Given the description of an element on the screen output the (x, y) to click on. 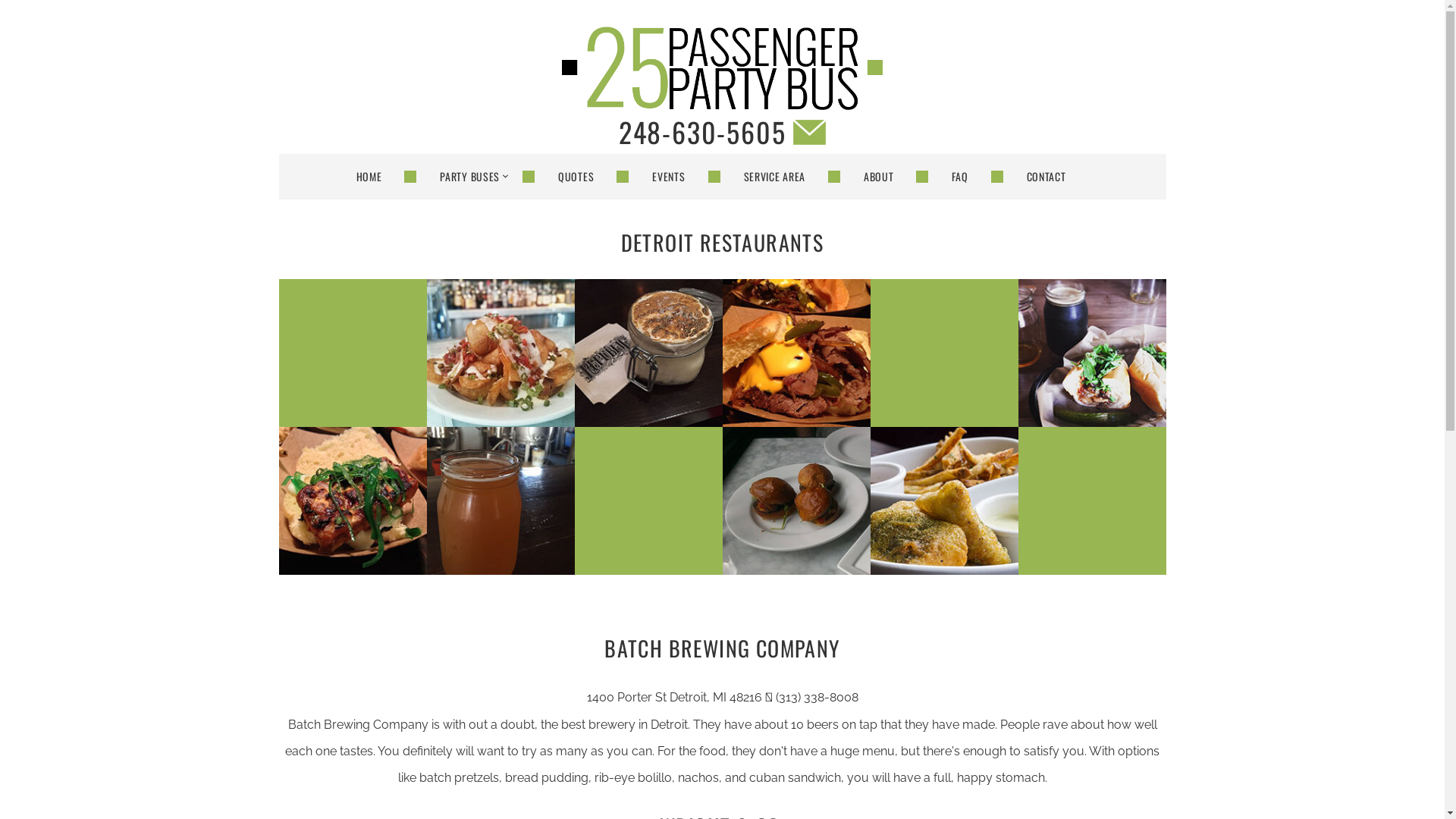
EVENTS Element type: text (662, 176)
ABOUT Element type: text (872, 176)
QUOTES Element type: text (569, 176)
HOME Element type: text (380, 176)
FAQ Element type: text (953, 176)
SERVICE AREA Element type: text (767, 176)
CONTACT Element type: text (1039, 176)
248-630-5605 Element type: text (702, 131)
PARTY BUSES Element type: text (463, 176)
